Given the description of an element on the screen output the (x, y) to click on. 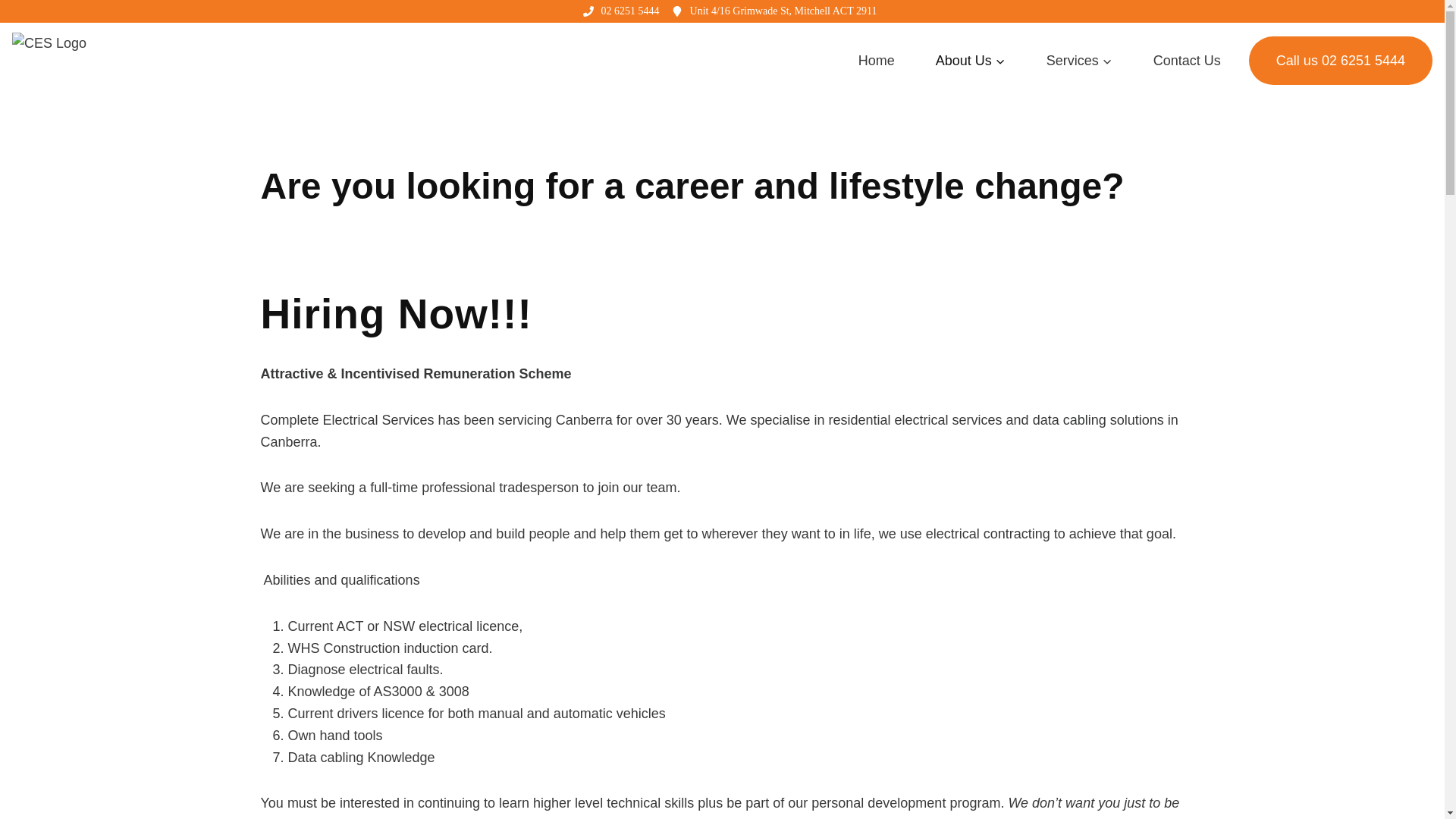
Contact Us (1186, 60)
About Us (970, 60)
Services (1079, 60)
Call us 02 6251 5444 (1340, 60)
02 6251 5444 (630, 10)
Home (876, 60)
